Given the description of an element on the screen output the (x, y) to click on. 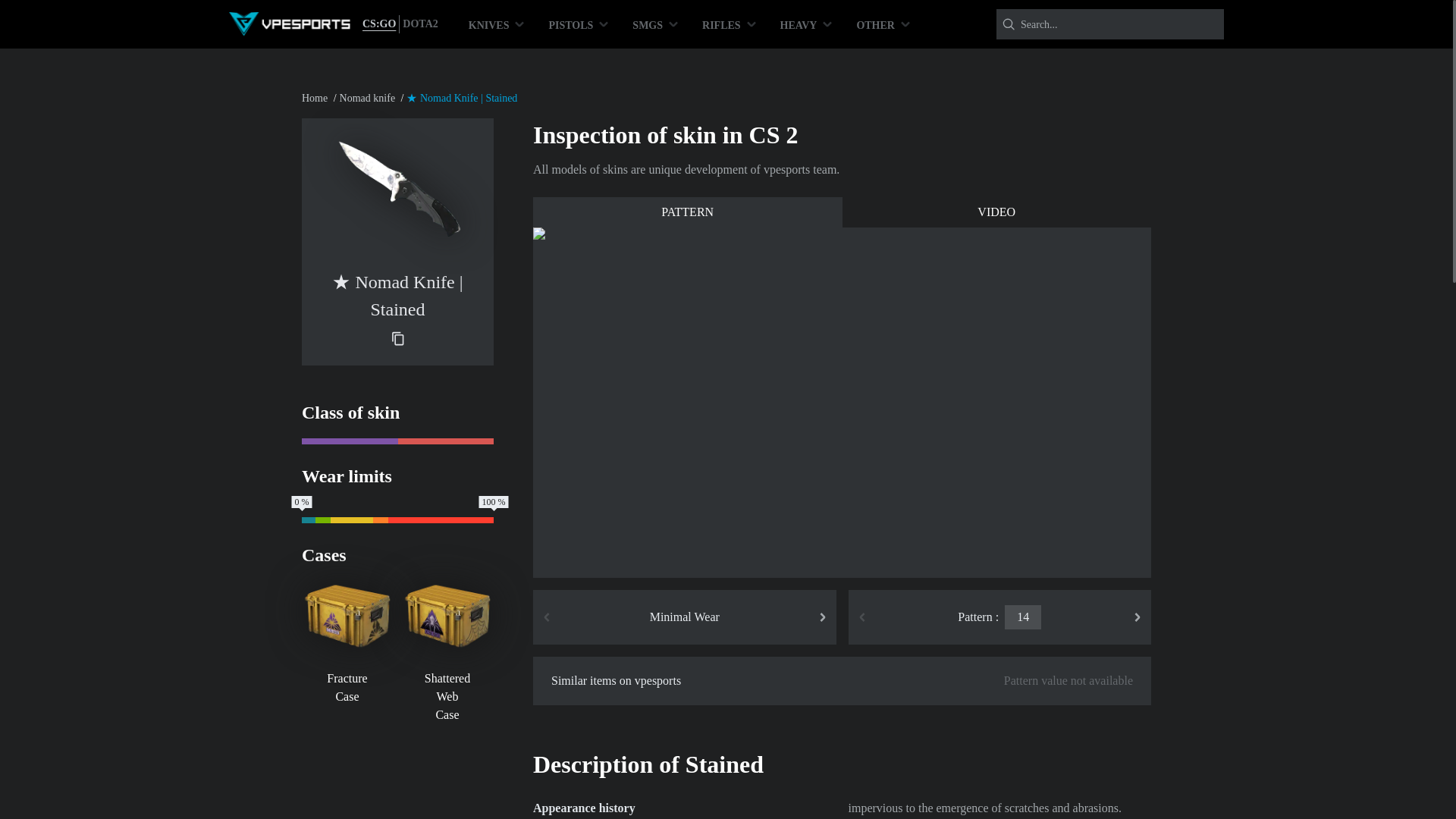
14 (1022, 617)
CS:GO (379, 23)
DOTA2 (420, 23)
